Given the description of an element on the screen output the (x, y) to click on. 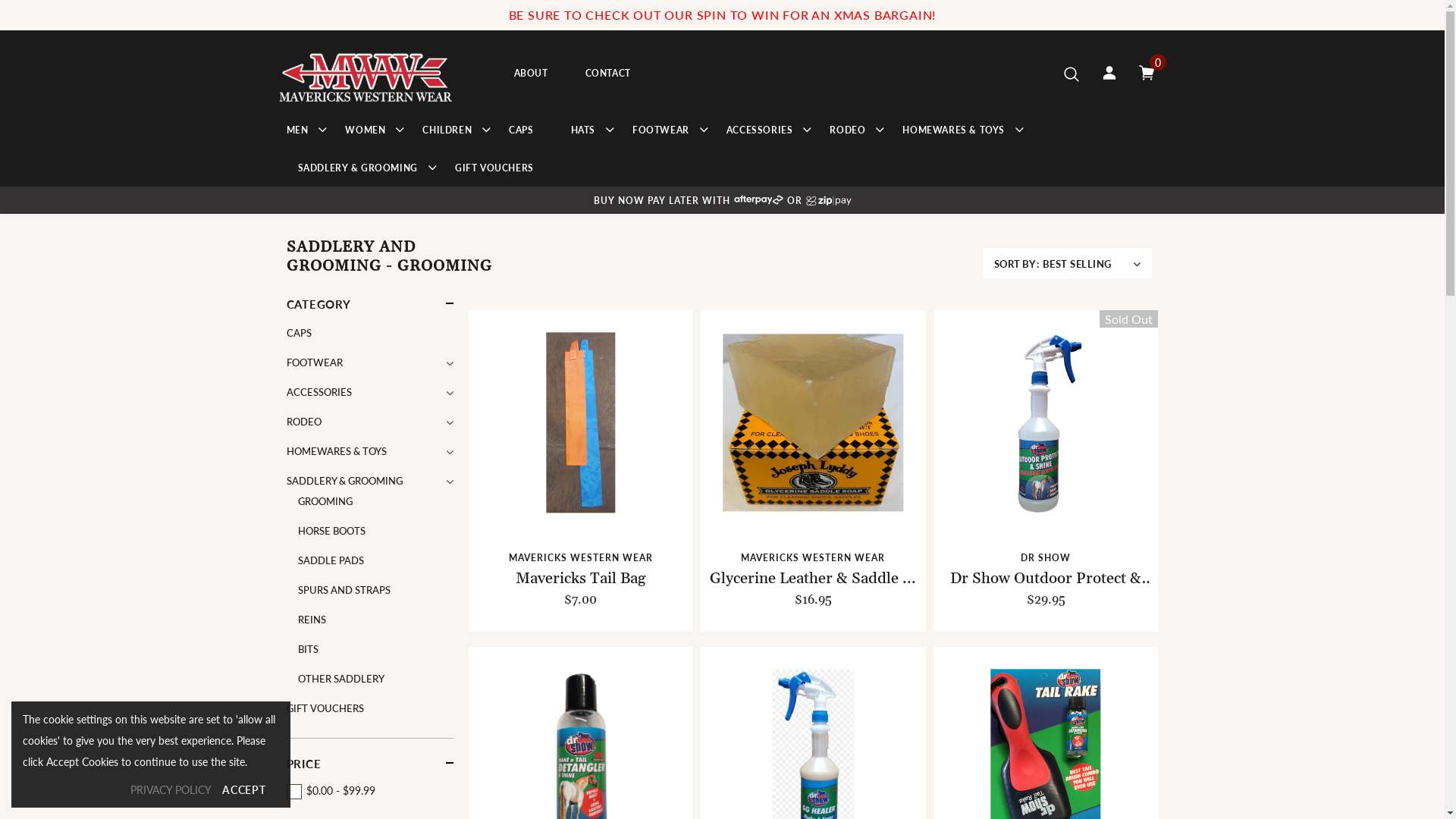
HOMEWARES & TOYS Element type: text (336, 451)
MEN Element type: text (297, 130)
SADDLERY & GROOMING Element type: text (357, 168)
MAVERICKS WESTERN WEAR Element type: text (812, 557)
SADDLERY & GROOMING Element type: text (344, 480)
ACCESSORIES Element type: text (759, 130)
GIFT VOUCHERS Element type: text (494, 168)
GROOMING Element type: text (324, 501)
Search Icon Element type: hover (1070, 73)
SADDLE PADS Element type: text (330, 560)
0 Element type: text (1146, 72)
CAPS Element type: text (298, 333)
GIFT VOUCHERS Element type: text (325, 708)
DR SHOW Element type: text (1045, 557)
BITS Element type: text (307, 649)
RODEO Element type: text (303, 421)
ABOUT Element type: text (531, 73)
HORSE BOOTS Element type: text (330, 530)
CONTACT Element type: text (607, 73)
PRIVACY POLICY Element type: text (170, 790)
ACCESSORIES Element type: text (318, 392)
CHILDREN Element type: text (446, 130)
HATS Element type: text (583, 130)
FOOTWEAR Element type: text (314, 362)
Logo Element type: hover (368, 72)
WOMEN Element type: text (365, 130)
REINS Element type: text (311, 619)
RODEO Element type: text (847, 130)
SPURS AND STRAPS Element type: text (343, 590)
FOOTWEAR Element type: text (660, 130)
HOMEWARES & TOYS Element type: text (953, 130)
Dr Show Outdoor Protect & S... Element type: text (1046, 578)
Mavericks Tail Bag Element type: text (581, 578)
User Icon Element type: hover (1109, 72)
CAPS Element type: text (520, 130)
OTHER SADDLERY Element type: text (340, 678)
Glycerine Leather & Saddle ... Element type: text (813, 578)
MAVERICKS WESTERN WEAR Element type: text (580, 557)
